Given the description of an element on the screen output the (x, y) to click on. 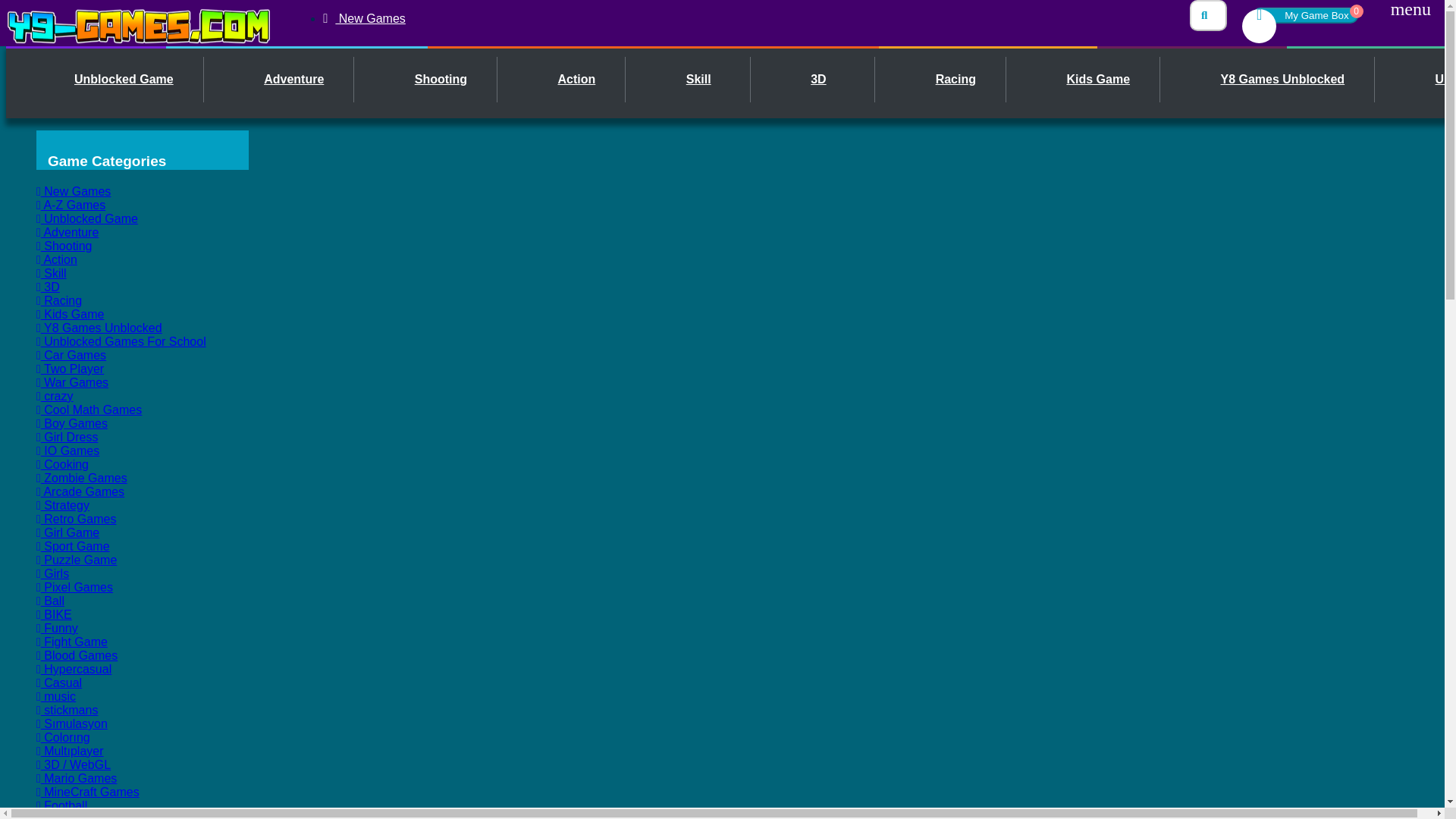
Racing (942, 79)
New Games (364, 18)
Skill (689, 79)
Search (1208, 15)
Kids Game (1084, 79)
Y8 Games Unblocked (1268, 79)
Homepage (138, 22)
New Games (364, 18)
Adventure (279, 79)
Y8 Games Unblocked (1268, 79)
Kids Game Unblocked (1084, 79)
Shooting (427, 79)
3D (1304, 15)
